Given the description of an element on the screen output the (x, y) to click on. 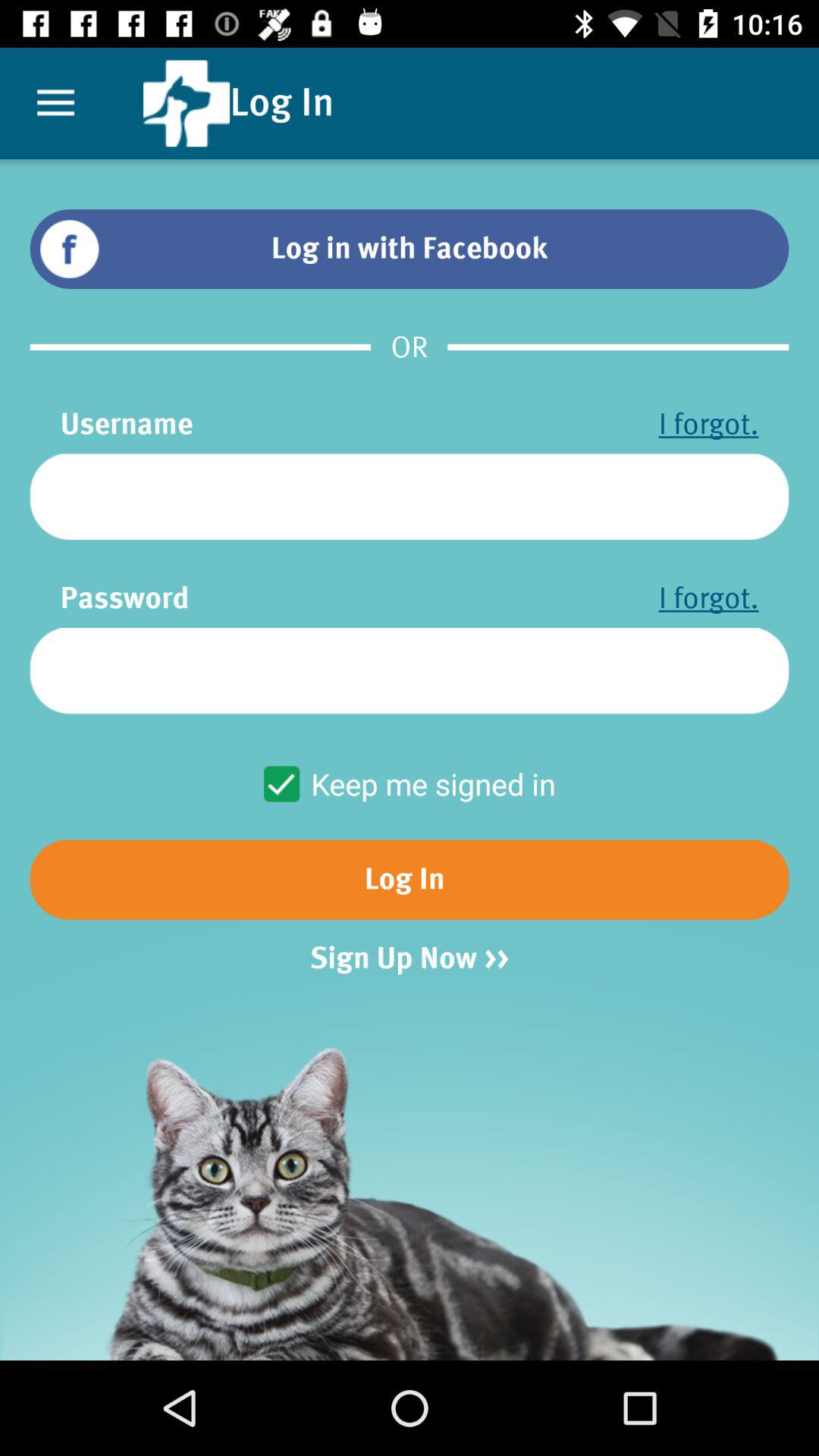
open the icon below log in (409, 958)
